Given the description of an element on the screen output the (x, y) to click on. 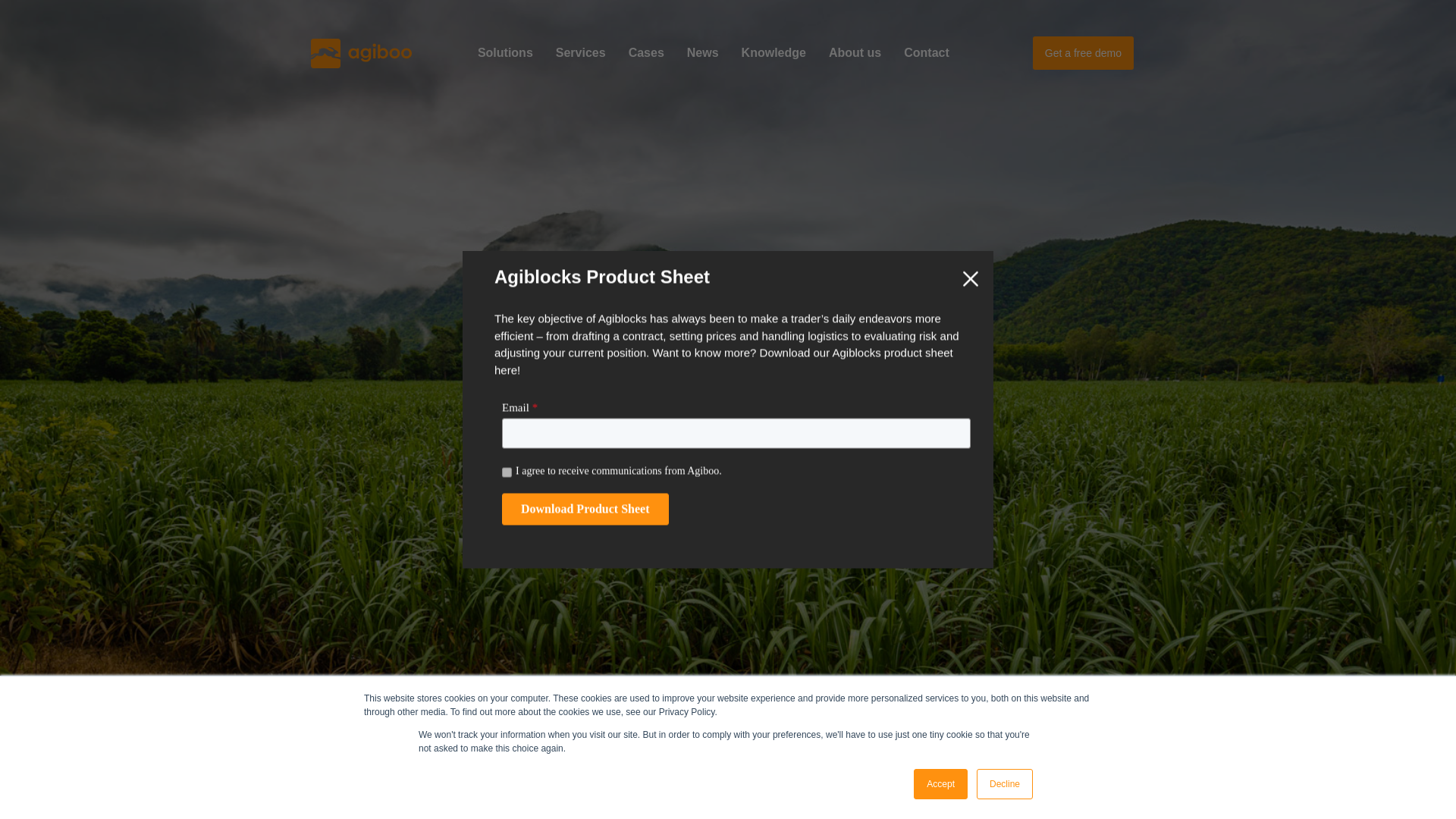
Services (580, 52)
Contact (926, 52)
Get a free demo (1083, 52)
Cases (646, 52)
About us (854, 52)
News (702, 52)
Decline (1004, 784)
Accept (941, 784)
Solutions (504, 52)
Get a free demo (1083, 53)
Knowledge (773, 52)
Home (361, 52)
